Given the description of an element on the screen output the (x, y) to click on. 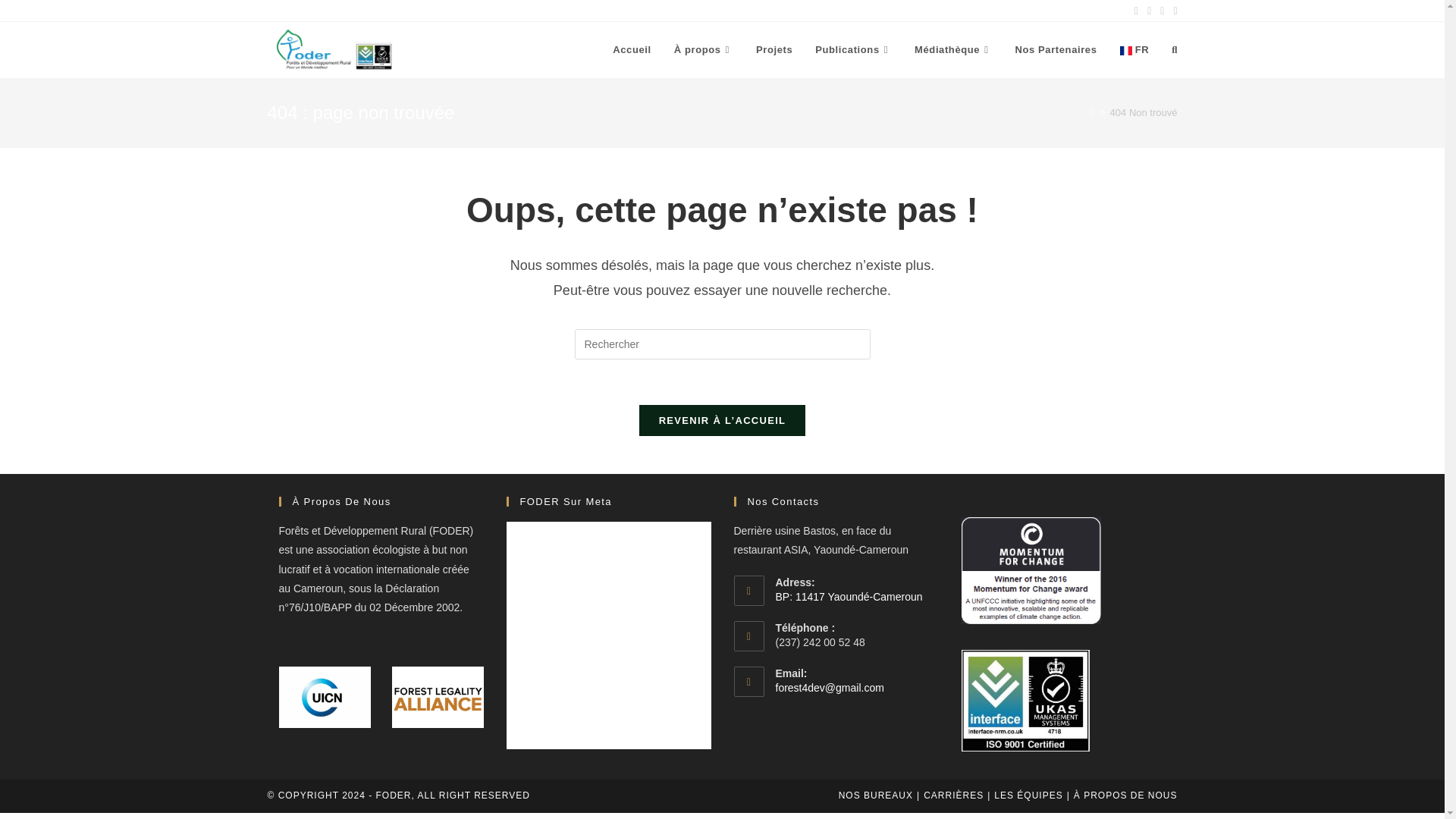
NOS BUREAUX (875, 795)
French (1134, 49)
FR (1134, 49)
Publications (852, 49)
Nos Partenaires (1056, 49)
Accueil (631, 49)
Projets (773, 49)
FODER Sur Meta (565, 501)
